Given the description of an element on the screen output the (x, y) to click on. 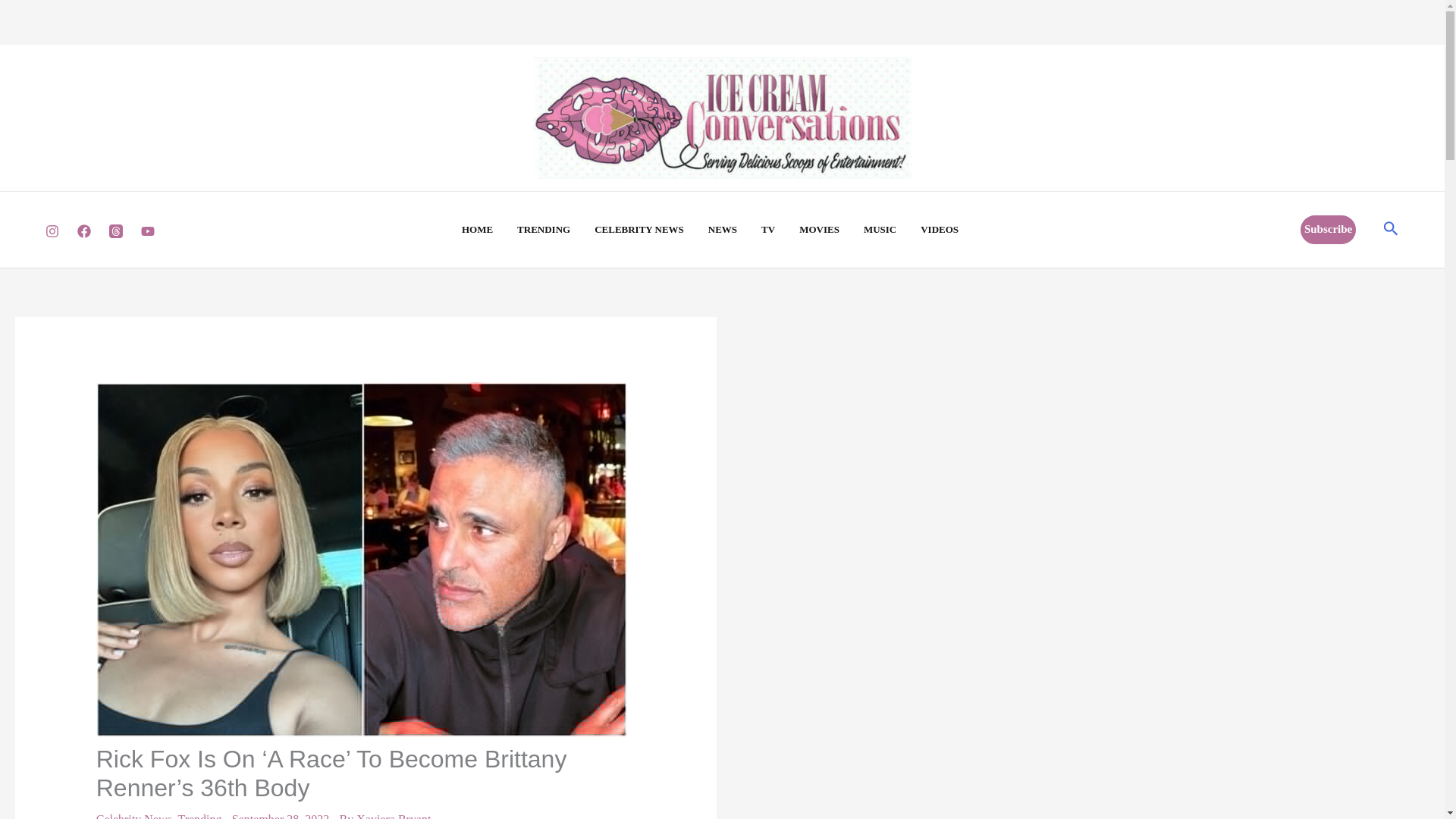
Xaviera Bryant (393, 816)
TRENDING (555, 229)
Celebrity News (133, 816)
CELEBRITY NEWS (650, 229)
View all posts by Xaviera Bryant (393, 816)
Trending (199, 816)
Subscribe (1327, 229)
